Given the description of an element on the screen output the (x, y) to click on. 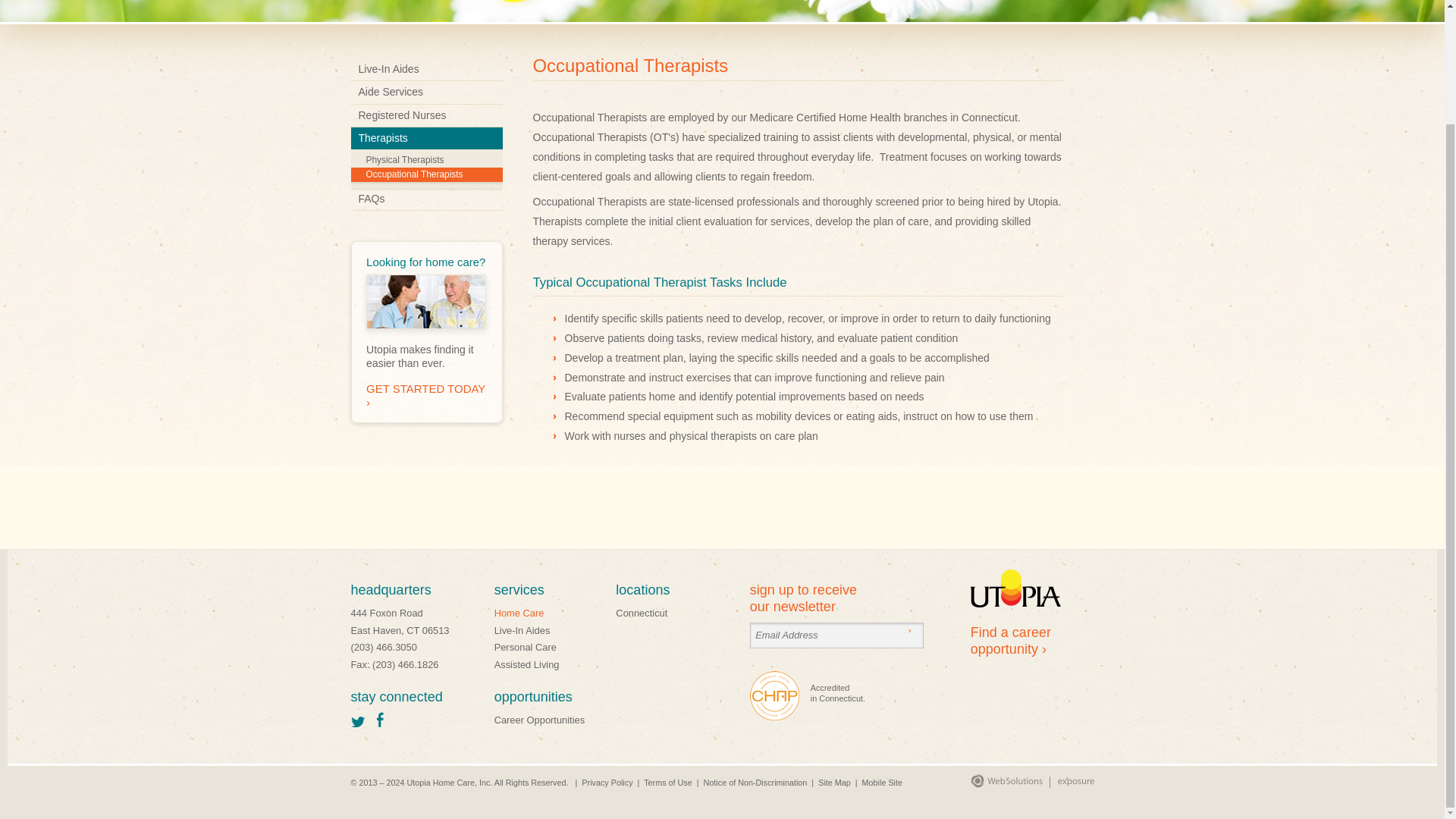
Personal Care (525, 646)
Assisted Living (527, 664)
Privacy Policy (605, 782)
Notice of Non-Discrimination (755, 782)
Occupational Therapists (426, 174)
Therapists (426, 138)
Career Opportunities (540, 719)
Live-In Aides (522, 630)
Connecticut (640, 613)
Aide Services (426, 92)
CT SEO Company - Exposure Internet Marketing (1067, 784)
Live-In Aides (426, 69)
Physical Therapists (426, 160)
FAQs (426, 198)
